Given the description of an element on the screen output the (x, y) to click on. 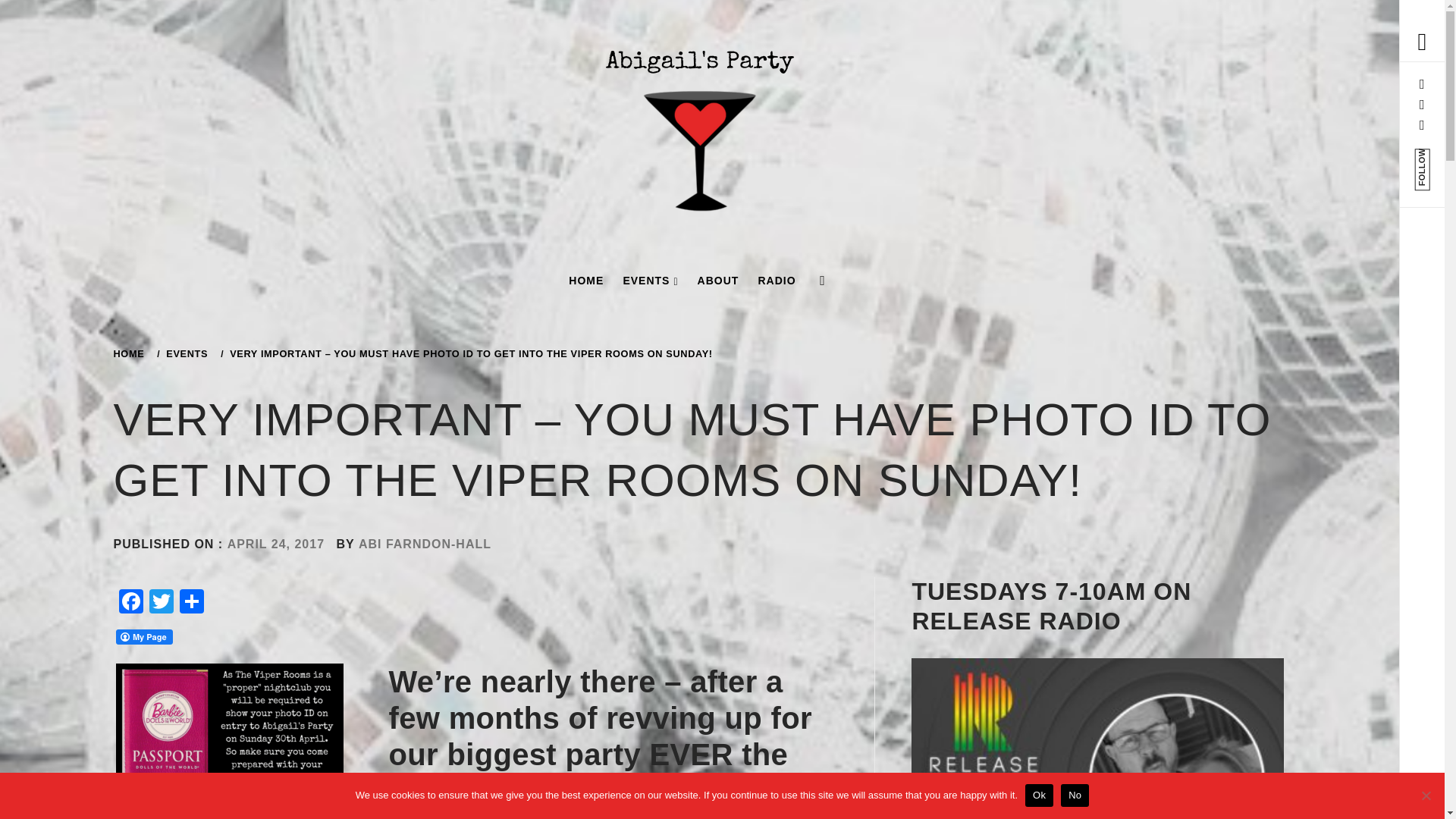
RADIO (776, 280)
Search (646, 37)
HOME (585, 280)
Twitter (160, 602)
ABOUT (718, 280)
Twitter (160, 602)
Facebook (130, 602)
No (1425, 795)
ABI FARNDON-HALL (425, 543)
Facebook (130, 602)
EVENTS (649, 280)
APRIL 24, 2017 (275, 543)
EVENTS (184, 353)
HOME (131, 353)
